Given the description of an element on the screen output the (x, y) to click on. 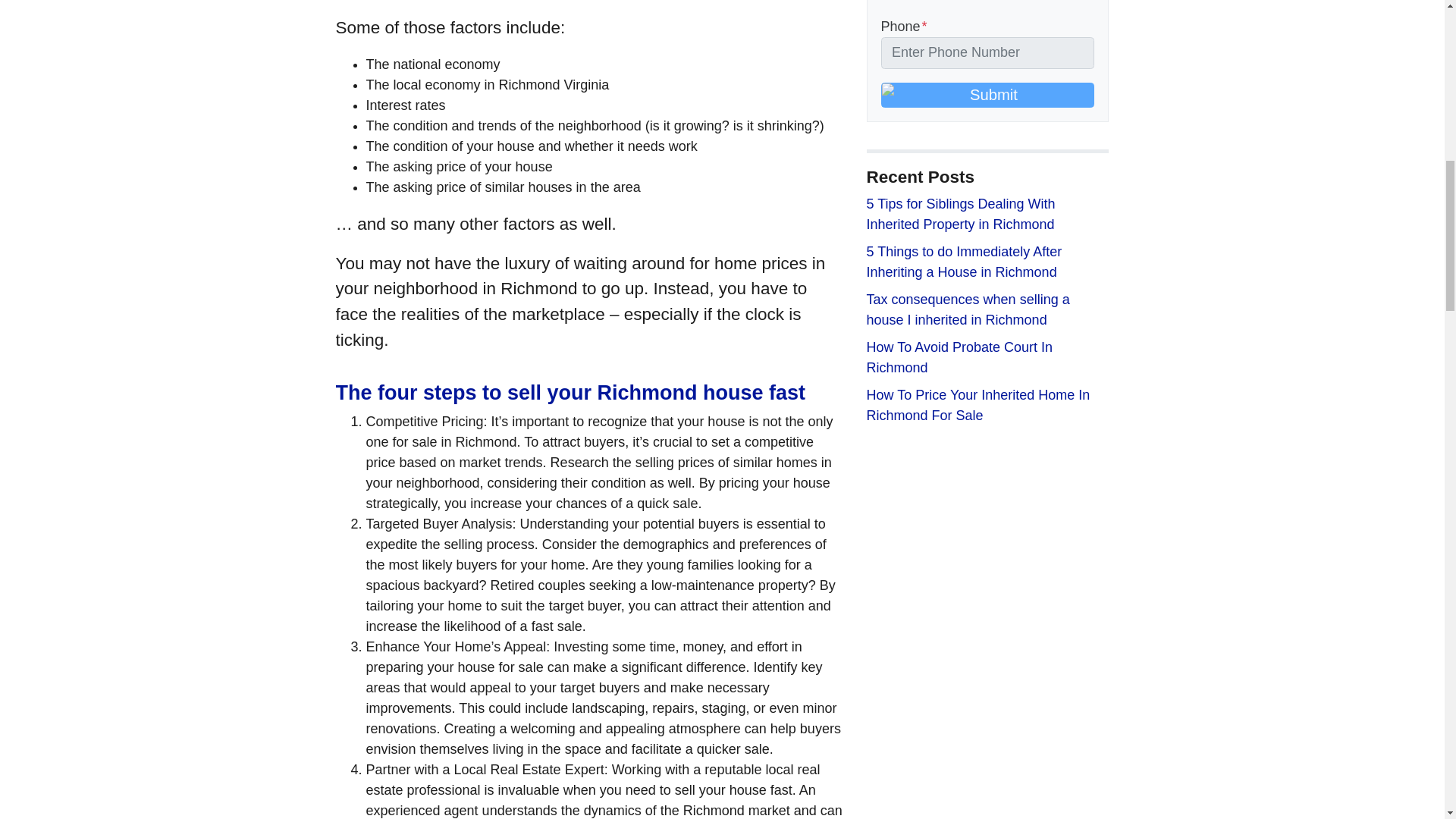
How To Price Your Inherited Home In Richmond For Sale (977, 405)
How To Avoid Probate Court In Richmond (958, 357)
